Given the description of an element on the screen output the (x, y) to click on. 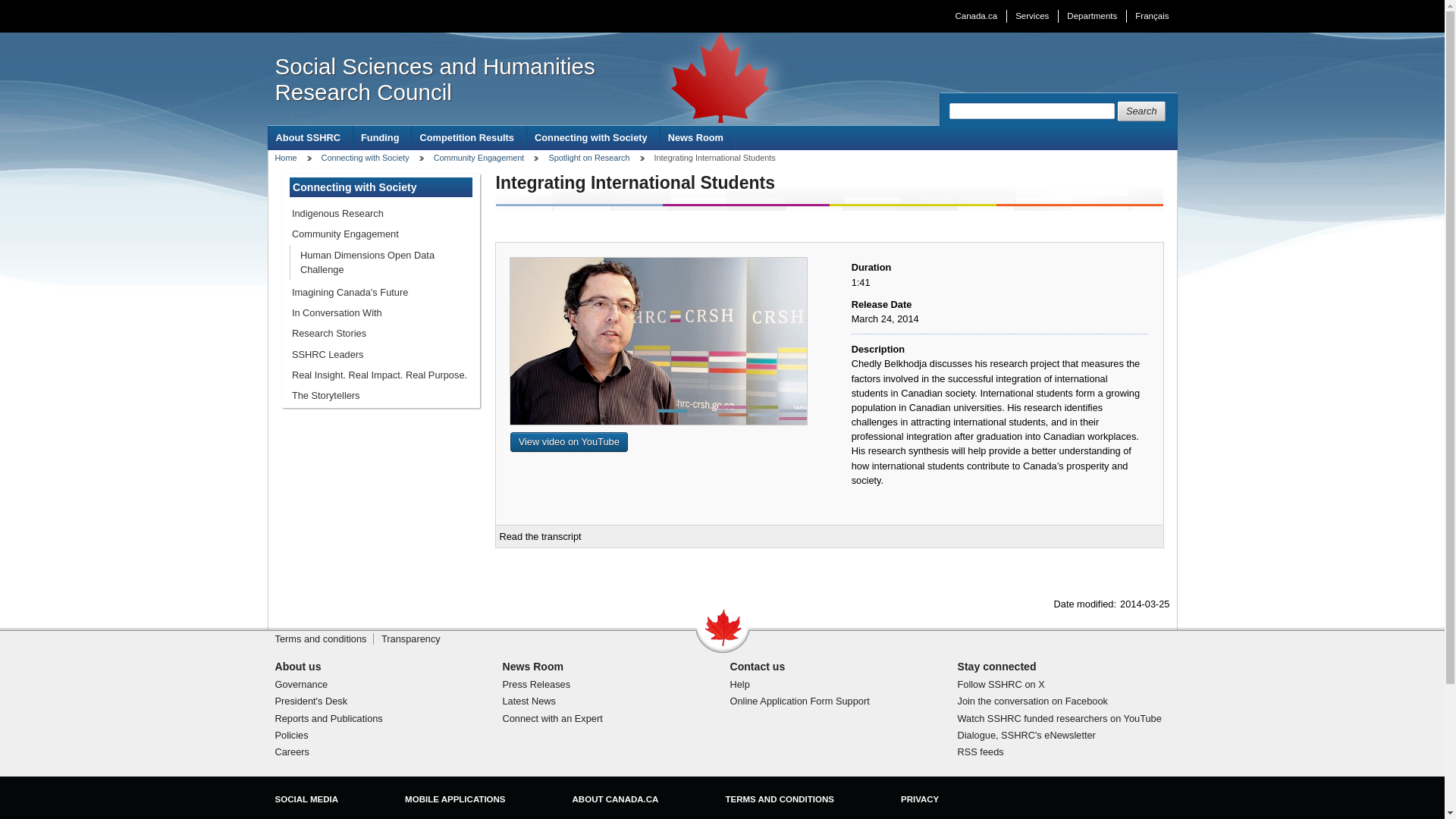
Competition Results (468, 137)
Research Stories (381, 332)
In Conversation With (381, 312)
Services (1032, 15)
Skip to main content (726, 11)
Real Insight. Real Impact. Real Purpose. (381, 374)
Search (1142, 111)
Search (1142, 111)
SSHRC Leaders (381, 353)
Indigenous Research (381, 213)
